Given the description of an element on the screen output the (x, y) to click on. 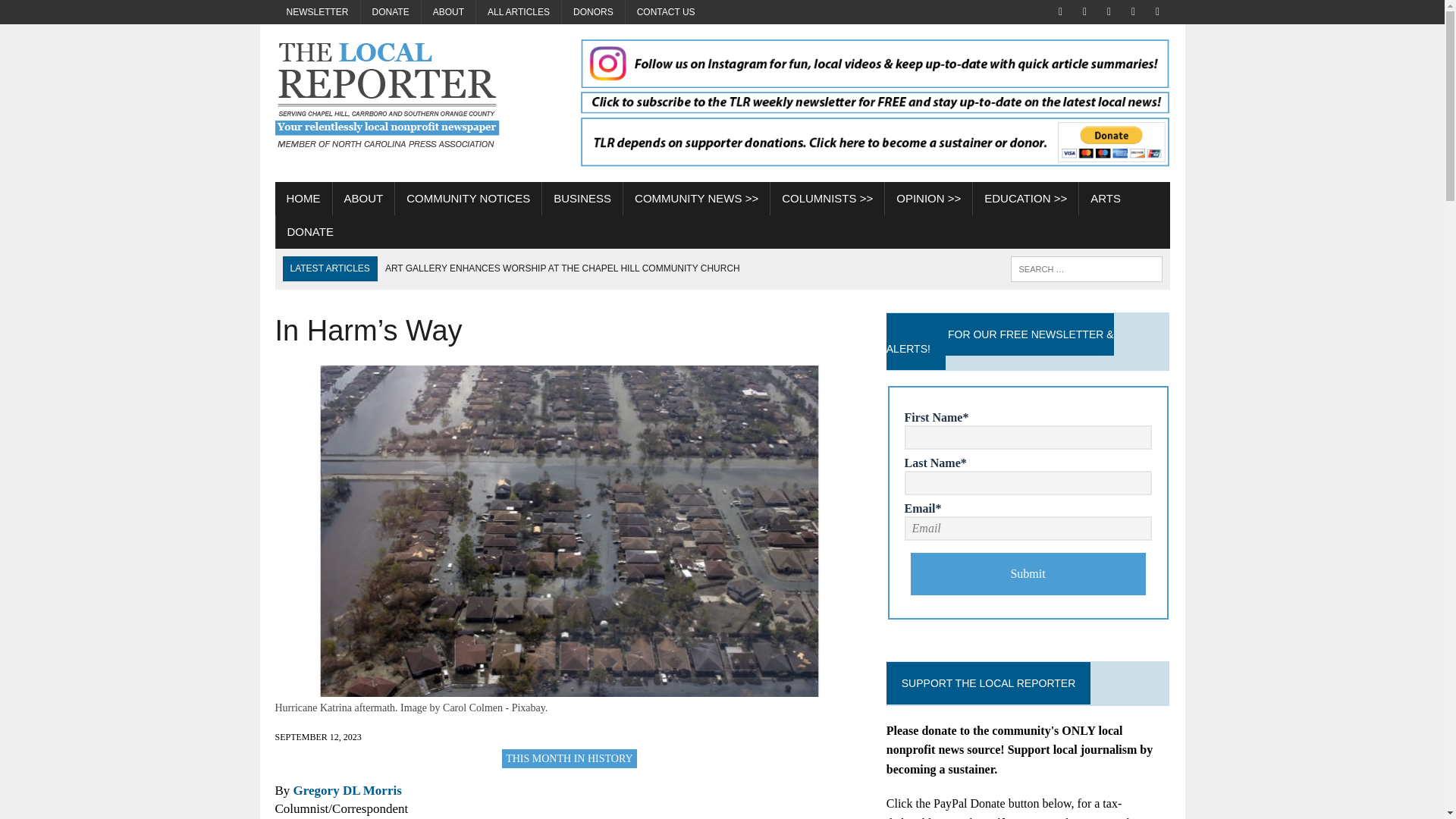
NEWSLETTER (317, 12)
DONATE (390, 12)
Submit (1028, 573)
The Local Reporter (416, 103)
ABOUT (449, 12)
CONTACT US (666, 12)
ALL ARTICLES (518, 12)
DONORS (593, 12)
